Given the description of an element on the screen output the (x, y) to click on. 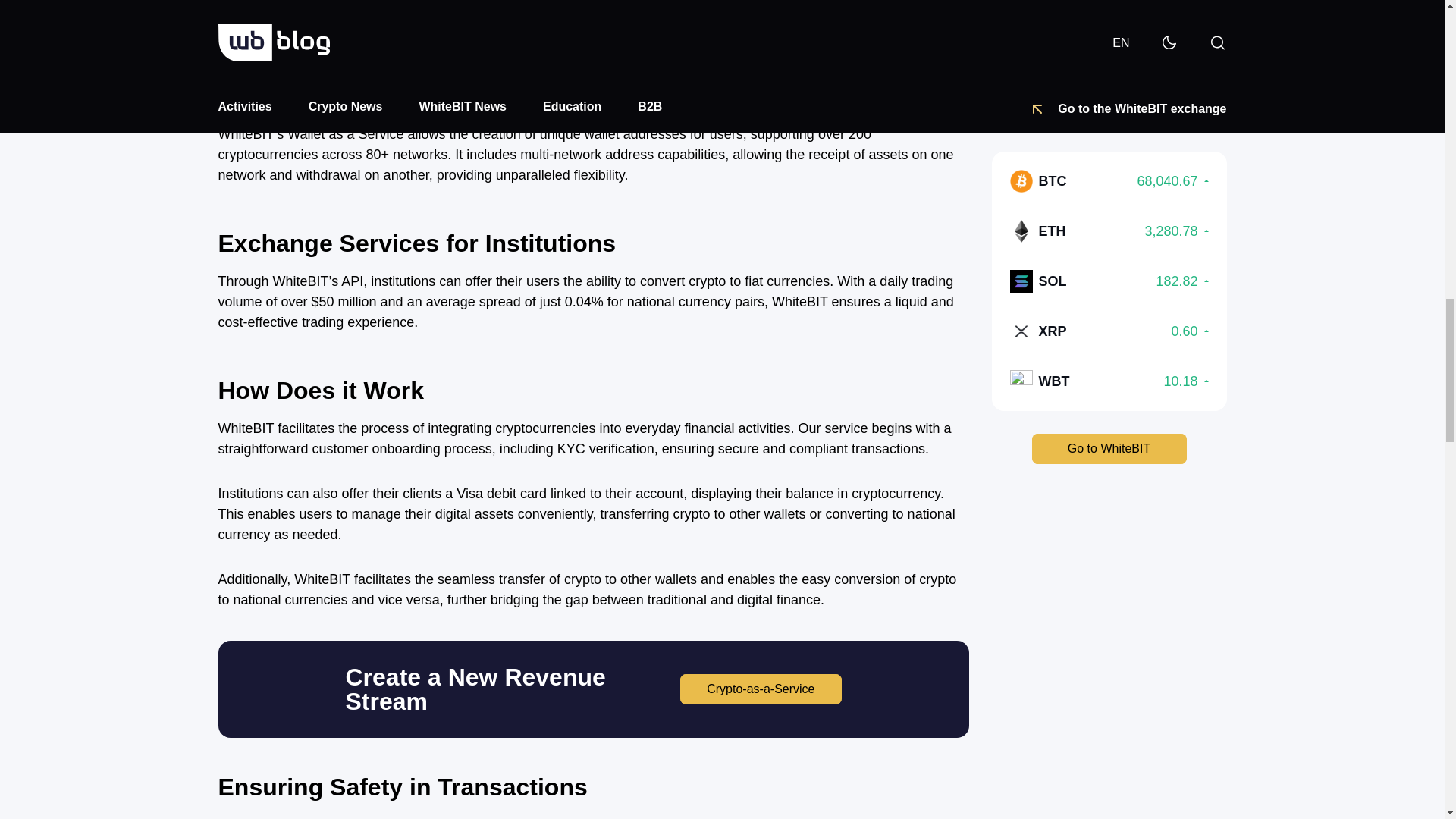
Crypto-as-a-Service (760, 689)
